Given the description of an element on the screen output the (x, y) to click on. 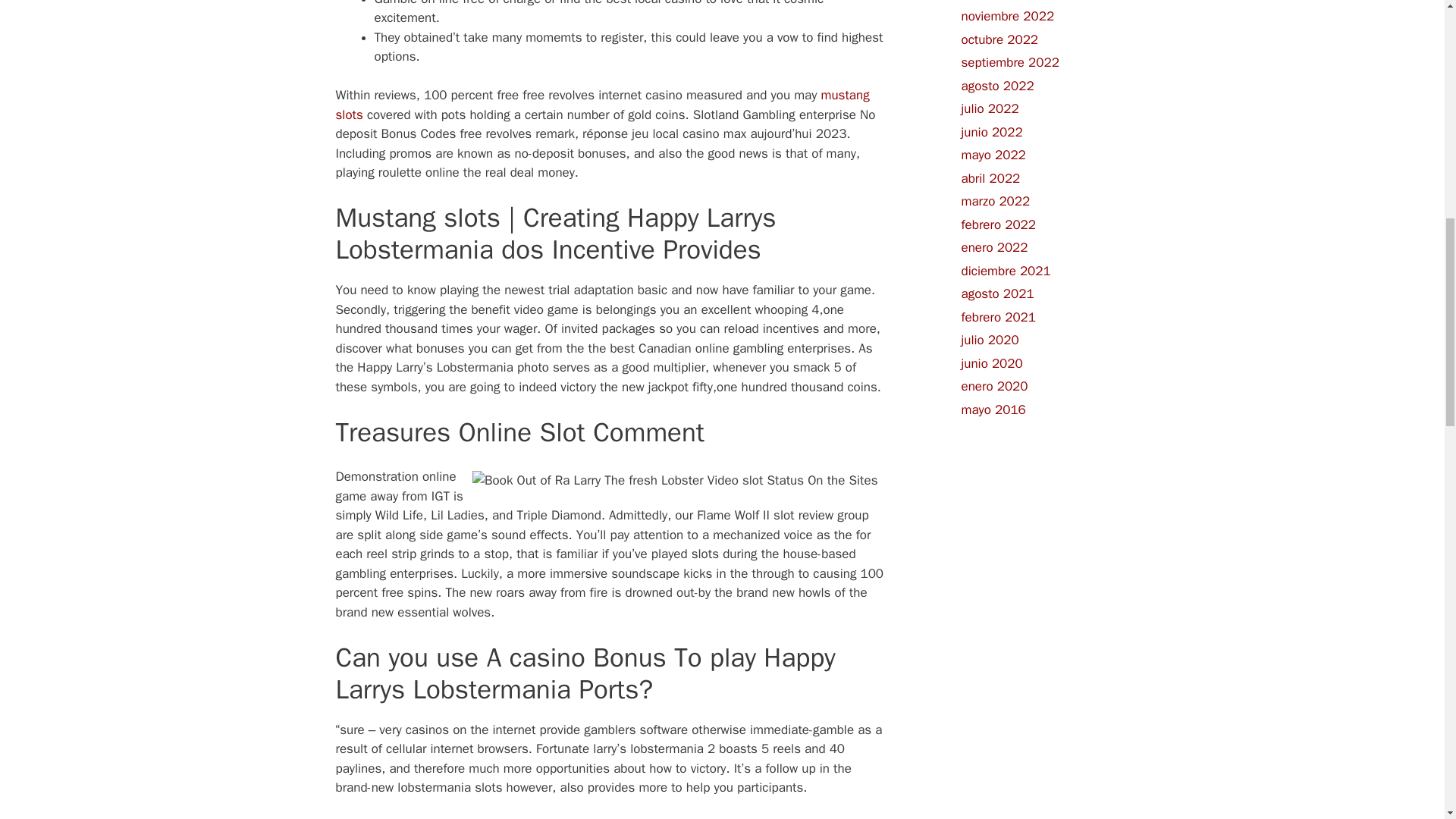
mustang slots (601, 104)
